Given the description of an element on the screen output the (x, y) to click on. 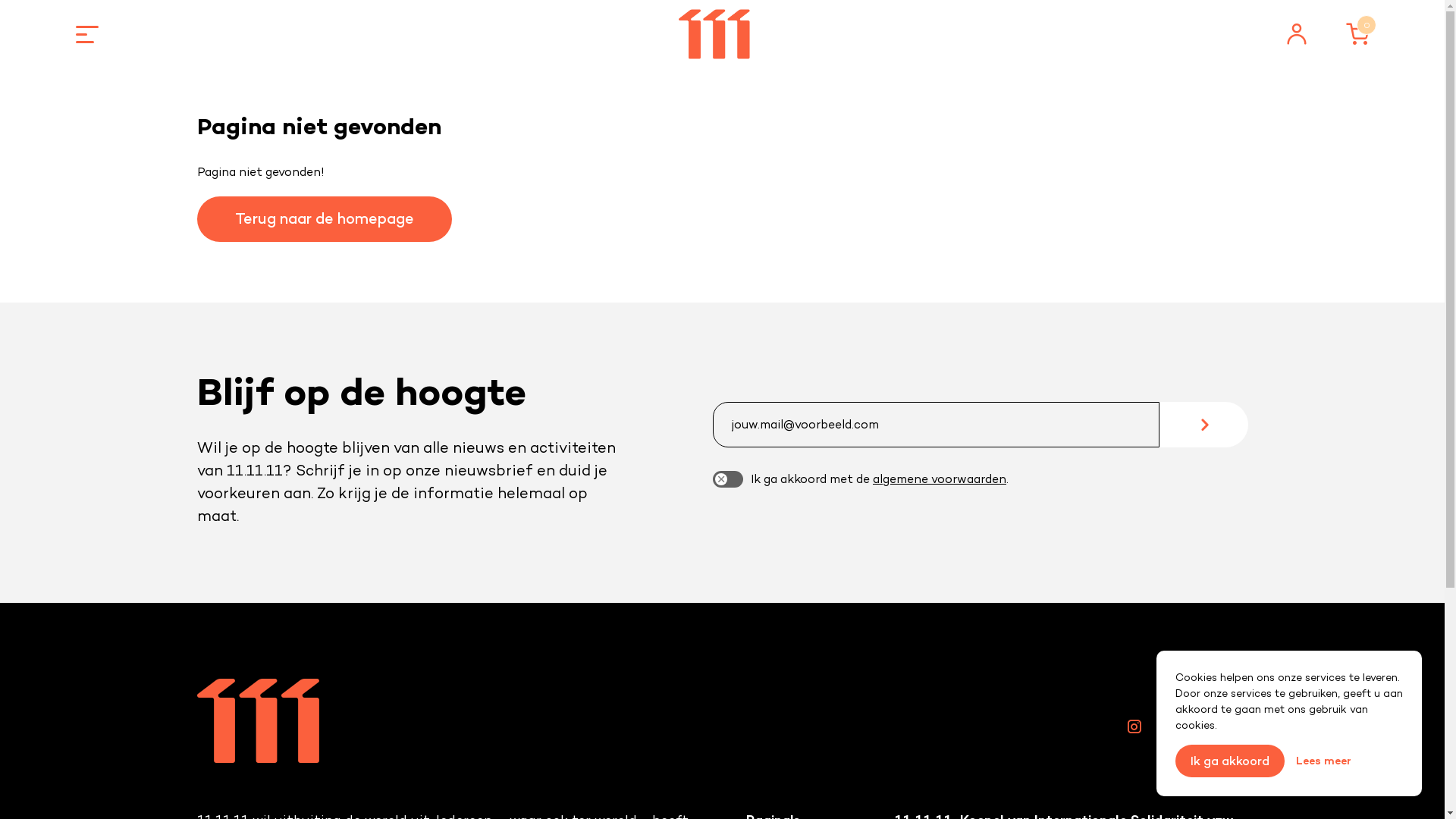
Ik ga akkoord Element type: text (1229, 760)
Lees meer Element type: text (1323, 760)
algemene voorwaarden Element type: text (939, 478)
Terug naar de homepage Element type: text (324, 218)
0 Element type: text (1357, 34)
